Given the description of an element on the screen output the (x, y) to click on. 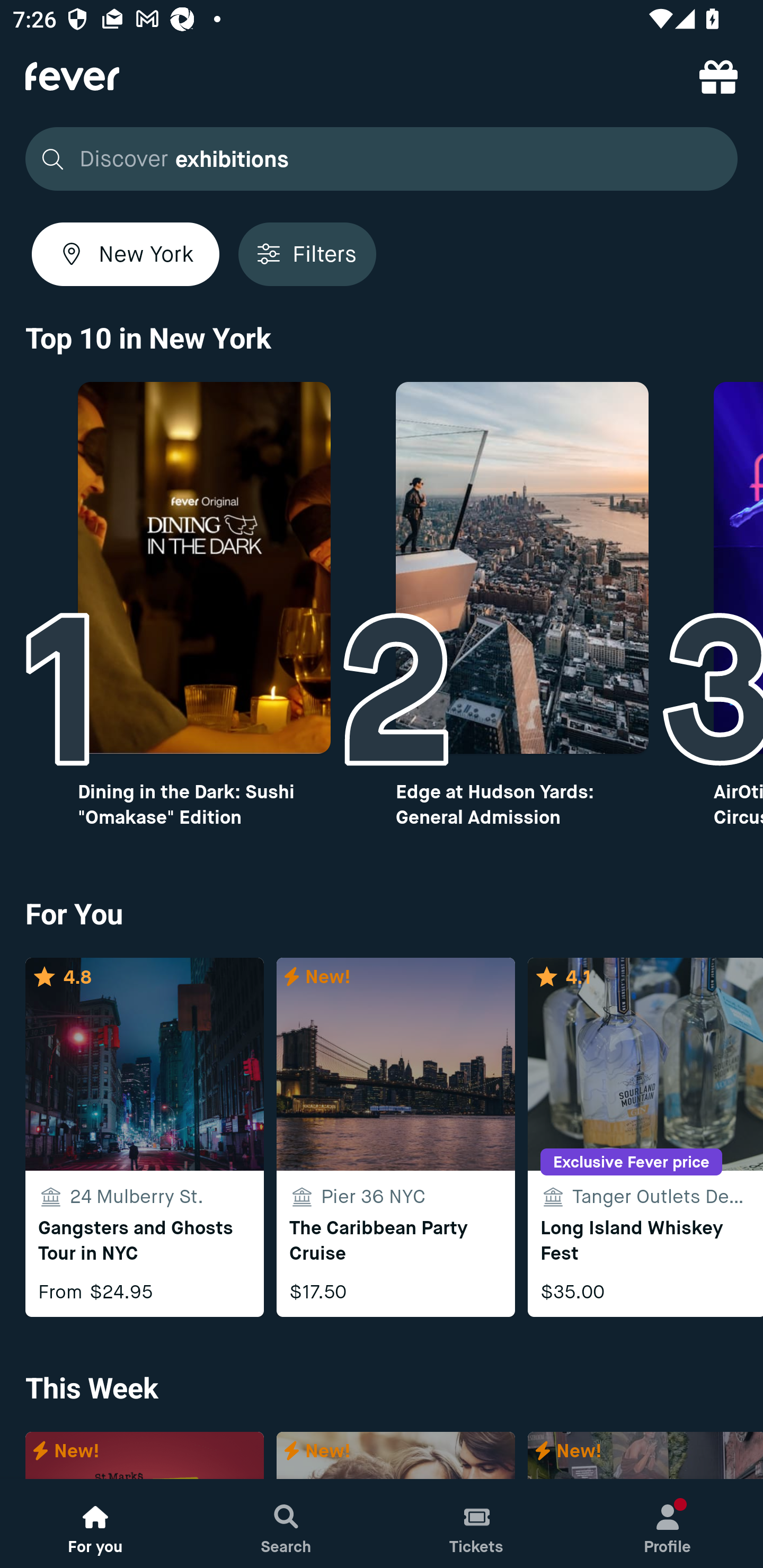
referral (718, 75)
Discover exhibitions (381, 158)
Discover exhibitions (376, 158)
New York (125, 253)
Filters (307, 253)
Top10 image (203, 568)
Top10 image (521, 568)
Search (285, 1523)
Tickets (476, 1523)
Profile, New notification Profile (667, 1523)
